Given the description of an element on the screen output the (x, y) to click on. 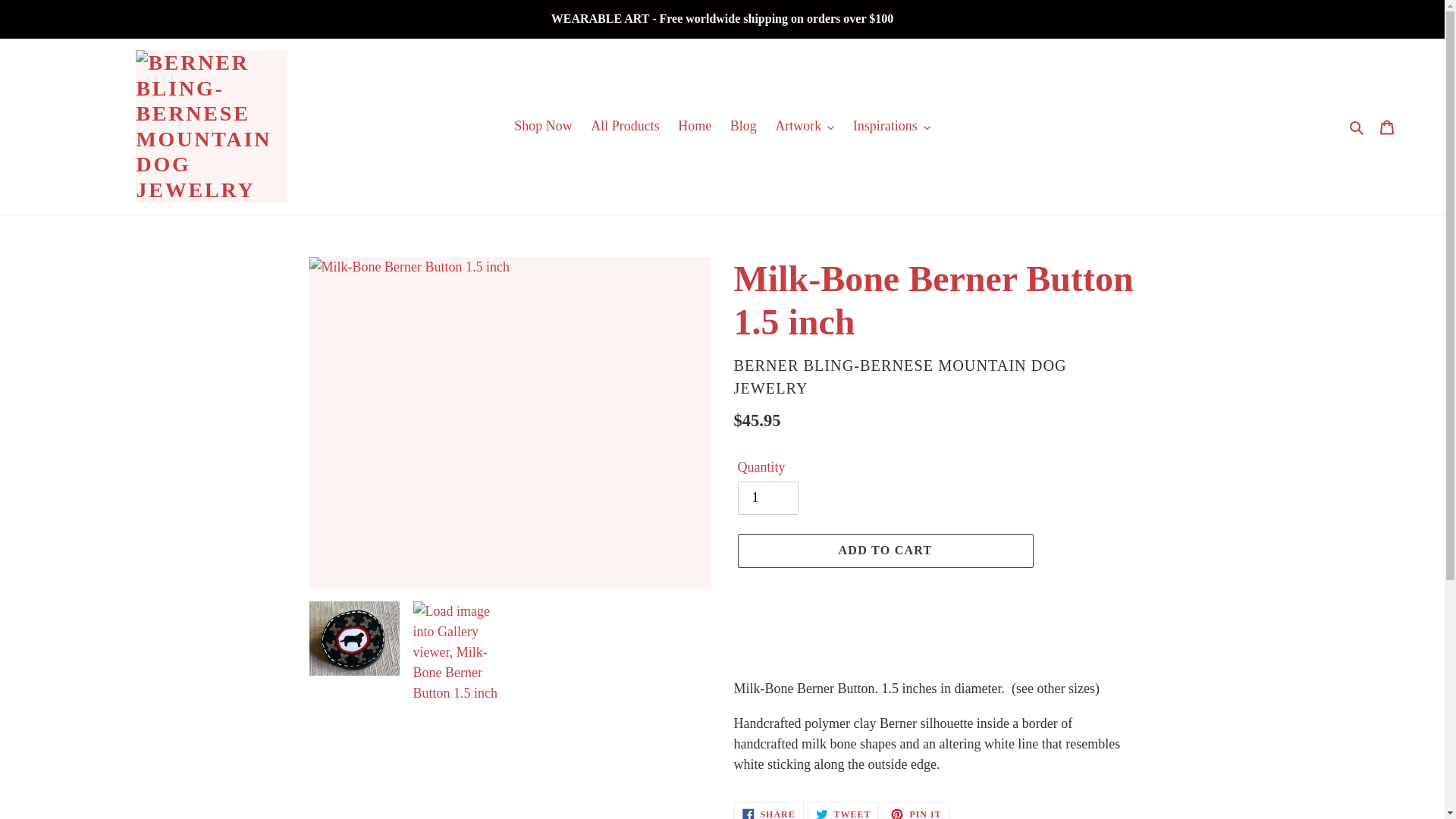
1 (766, 498)
Blog (743, 125)
Home (694, 125)
Cart (1387, 126)
ADD TO CART (884, 550)
Artwork (804, 125)
All Products (624, 125)
Shop Now (542, 125)
Search (1357, 126)
Inspirations (891, 125)
